Given the description of an element on the screen output the (x, y) to click on. 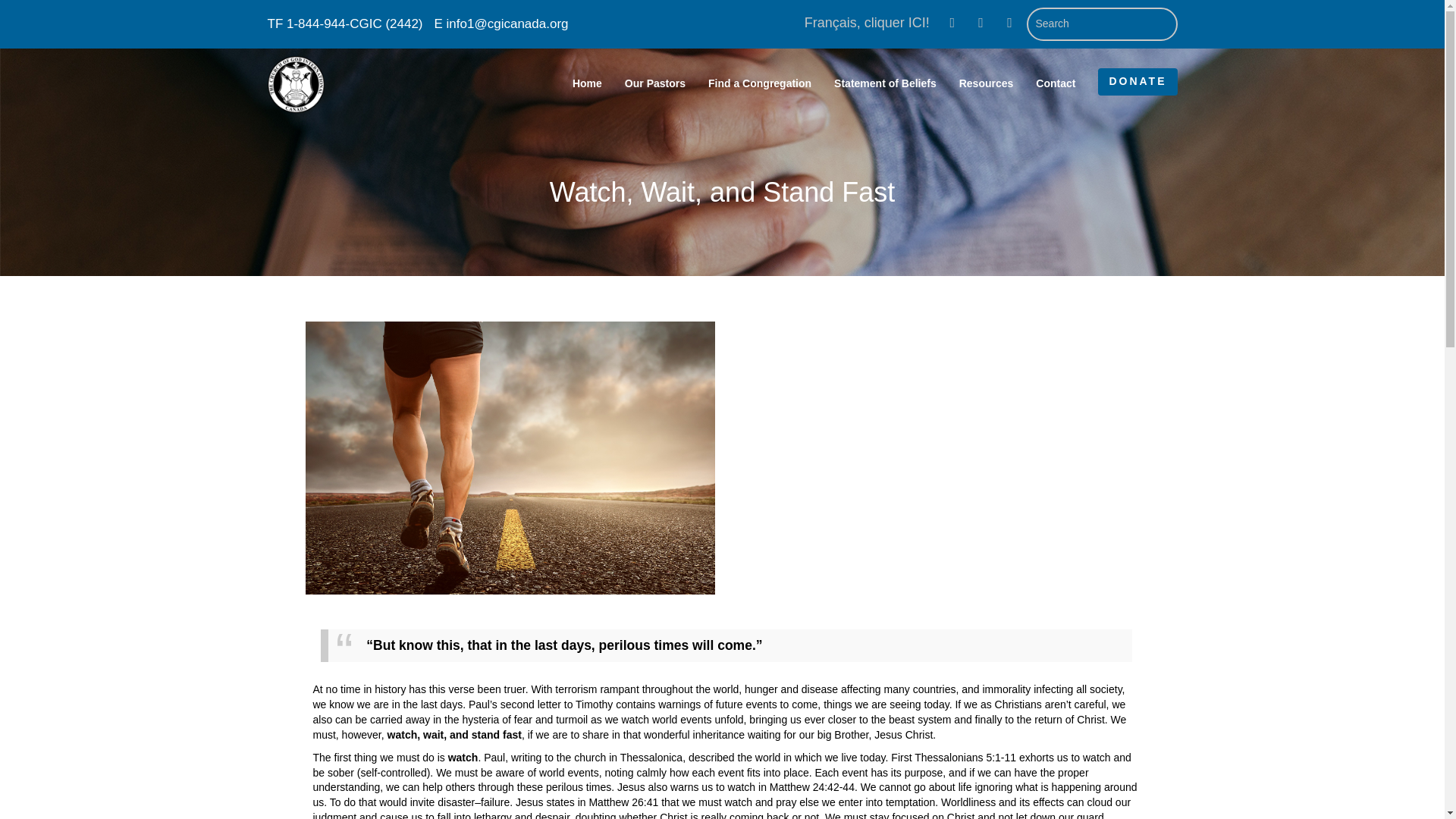
Contact (1055, 84)
Find a Congregation (759, 84)
Our Pastors (654, 84)
Home (586, 84)
First Thessalonians 5:1-11 (953, 757)
Matthew 26:41 (623, 802)
Statement of Beliefs (884, 84)
DONATE (1136, 81)
Resources (986, 84)
Matthew 24:42-44. We (823, 787)
